Given the description of an element on the screen output the (x, y) to click on. 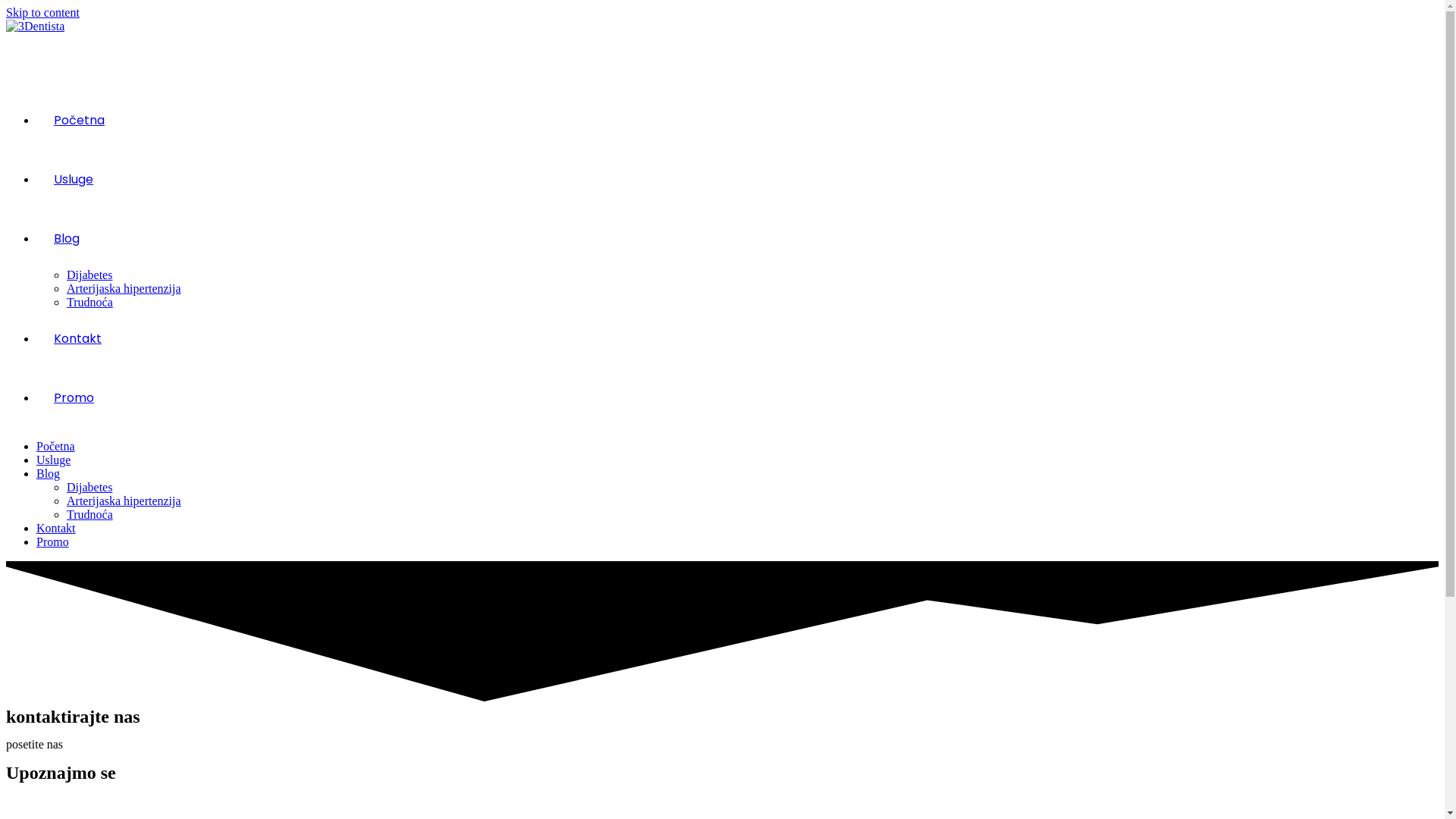
Arterijaska hipertenzija Element type: text (123, 288)
Dijabetes Element type: text (89, 274)
Skip to content Element type: text (42, 12)
Blog Element type: text (66, 238)
Blog Element type: text (47, 473)
Arterijaska hipertenzija Element type: text (123, 500)
Promo Element type: text (52, 541)
Dijabetes Element type: text (89, 486)
Usluge Element type: text (73, 179)
Kontakt Element type: text (77, 338)
Promo Element type: text (73, 397)
Usluge Element type: text (53, 459)
Kontakt Element type: text (55, 527)
